Given the description of an element on the screen output the (x, y) to click on. 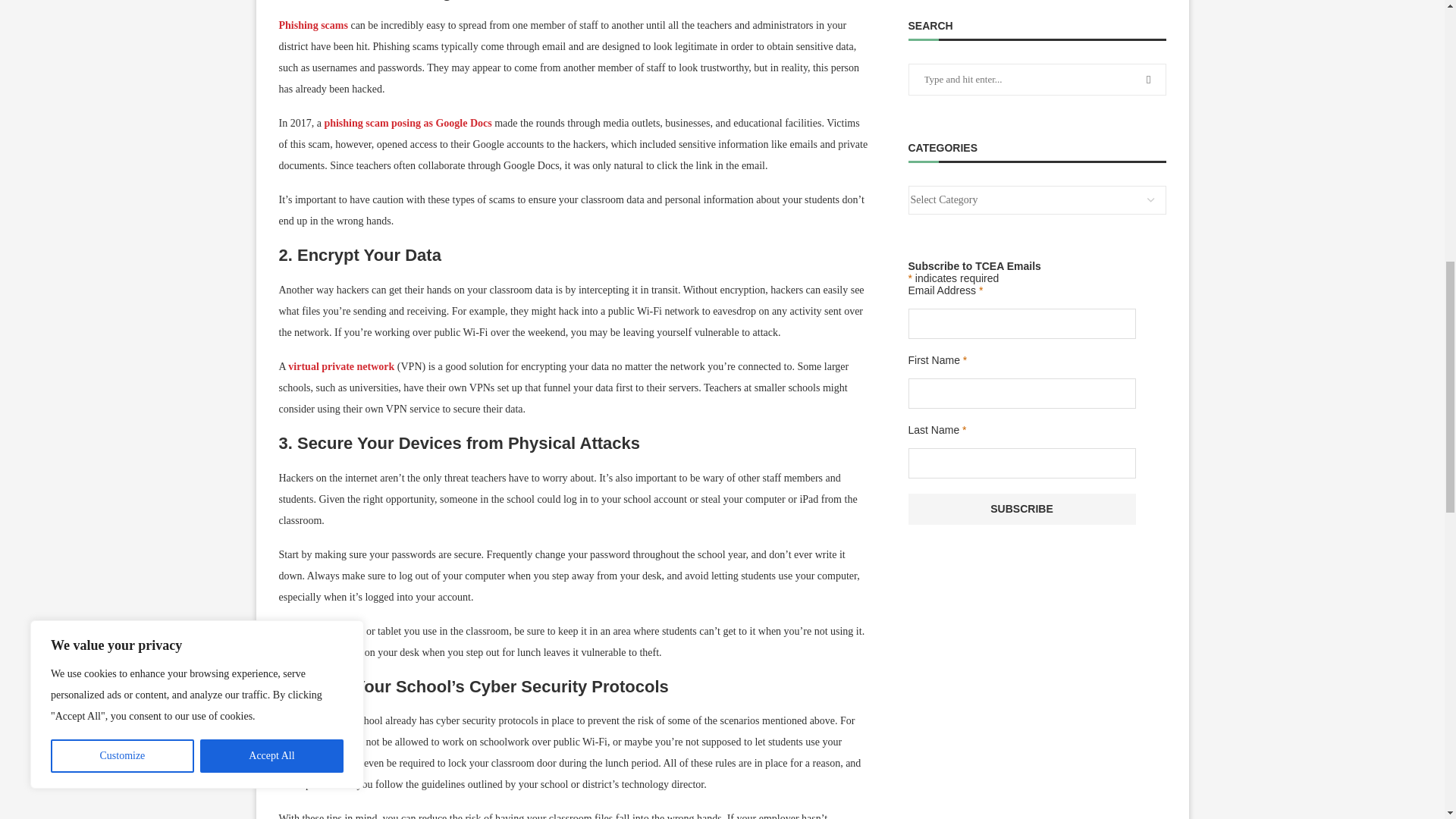
Subscribe (1021, 508)
